Given the description of an element on the screen output the (x, y) to click on. 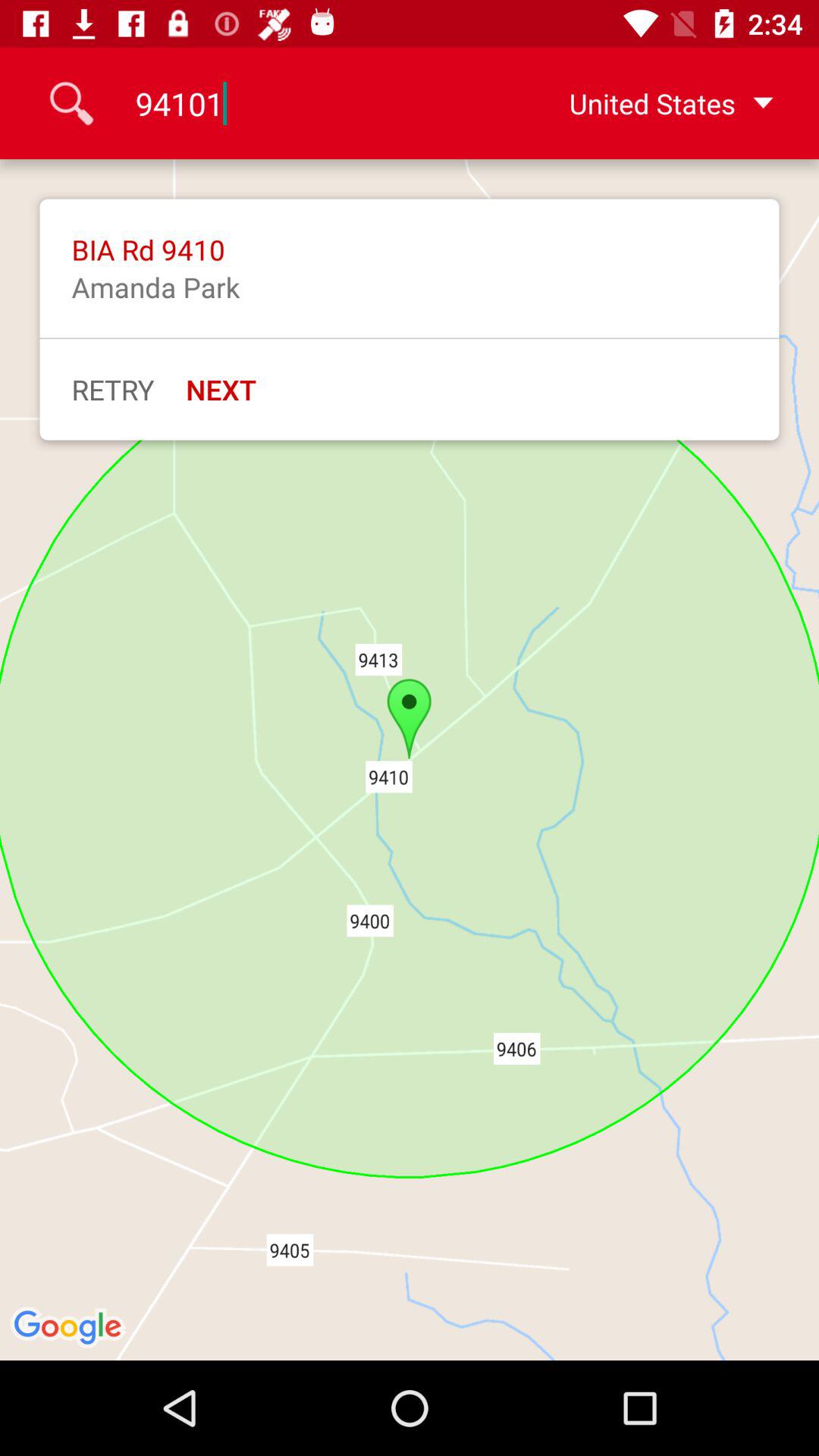
flip until 94101 (309, 103)
